Given the description of an element on the screen output the (x, y) to click on. 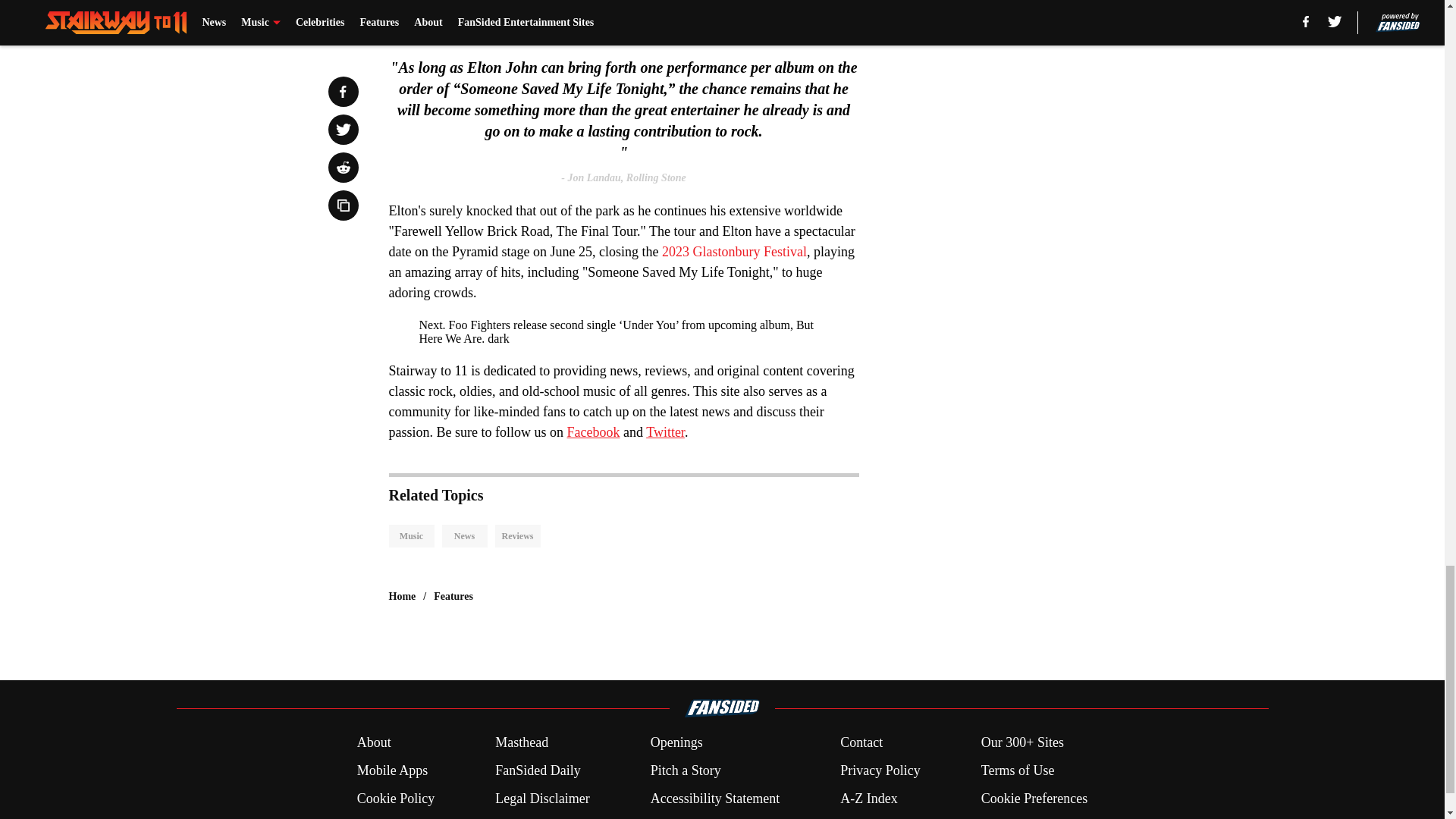
Masthead (521, 742)
Openings (676, 742)
About (373, 742)
Twitter (665, 432)
Music (410, 535)
FanSided Daily (537, 770)
Facebook (593, 432)
Privacy Policy (880, 770)
2023 Glastonbury Festival (734, 251)
Home (401, 596)
Pitch a Story (685, 770)
Contact (861, 742)
News (463, 535)
Reviews (517, 535)
Mobile Apps (392, 770)
